Given the description of an element on the screen output the (x, y) to click on. 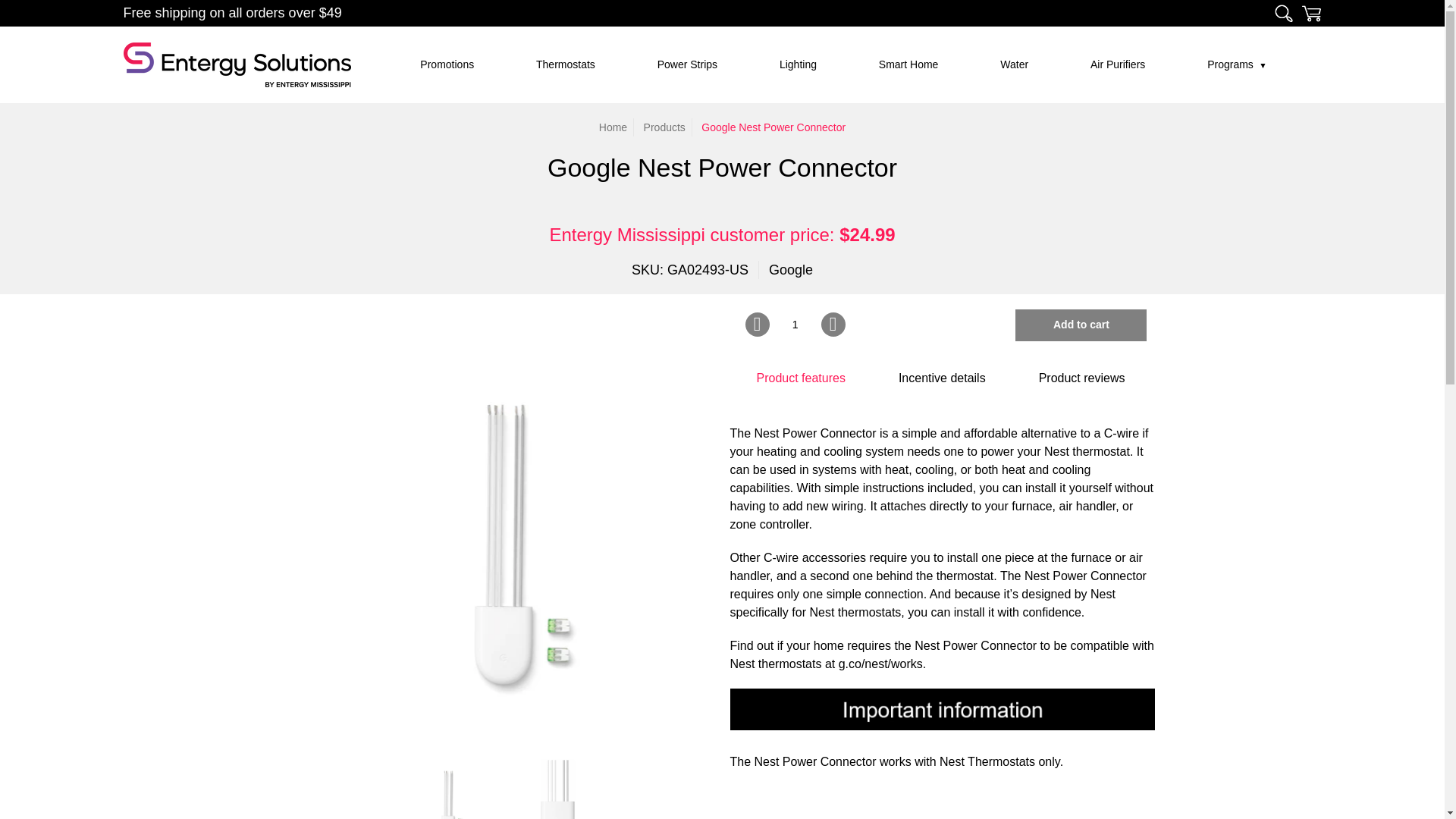
Google (790, 269)
Power Strips (687, 64)
Search (1283, 13)
Programs (1236, 64)
testPower Strips (687, 64)
testAir Purifiers (1118, 64)
testSmart Home (908, 64)
Product features (799, 377)
testPromotions (446, 64)
testThermostats (565, 64)
testPrograms (1236, 64)
Air Purifiers (1118, 64)
Promotions (446, 64)
1 (795, 324)
Incentive details (941, 377)
